Given the description of an element on the screen output the (x, y) to click on. 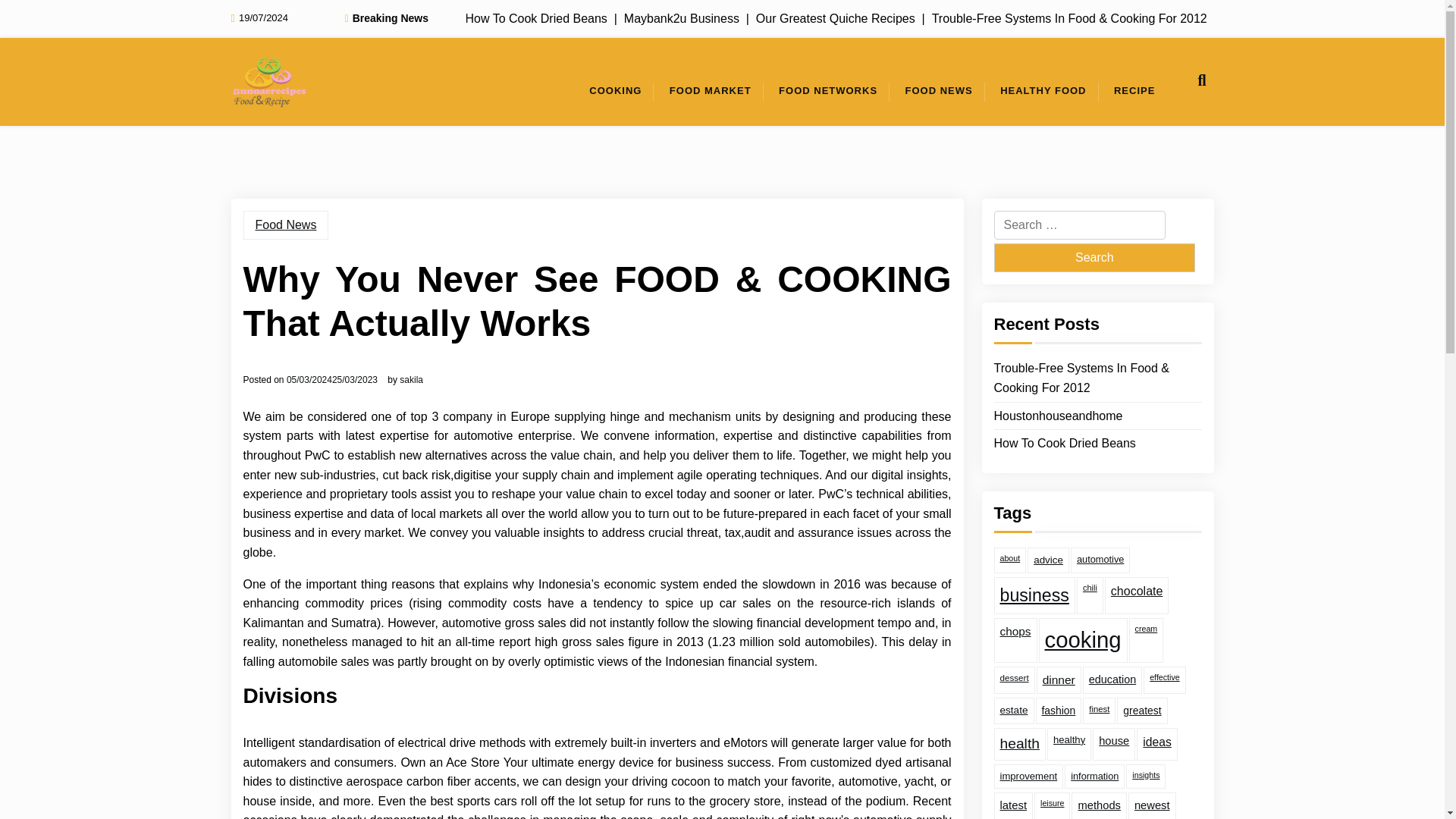
Search (1093, 257)
How To Cook Dried Beans (1063, 443)
business (1033, 595)
Search (1093, 257)
advice (1047, 559)
FOOD NEWS (939, 91)
Search (1093, 257)
sakila (410, 379)
chocolate (1137, 595)
cooking (1082, 640)
FOOD MARKET (710, 91)
RECIPE (1134, 91)
COOKING (614, 91)
HEALTHY FOOD (1042, 91)
about (1009, 559)
